Given the description of an element on the screen output the (x, y) to click on. 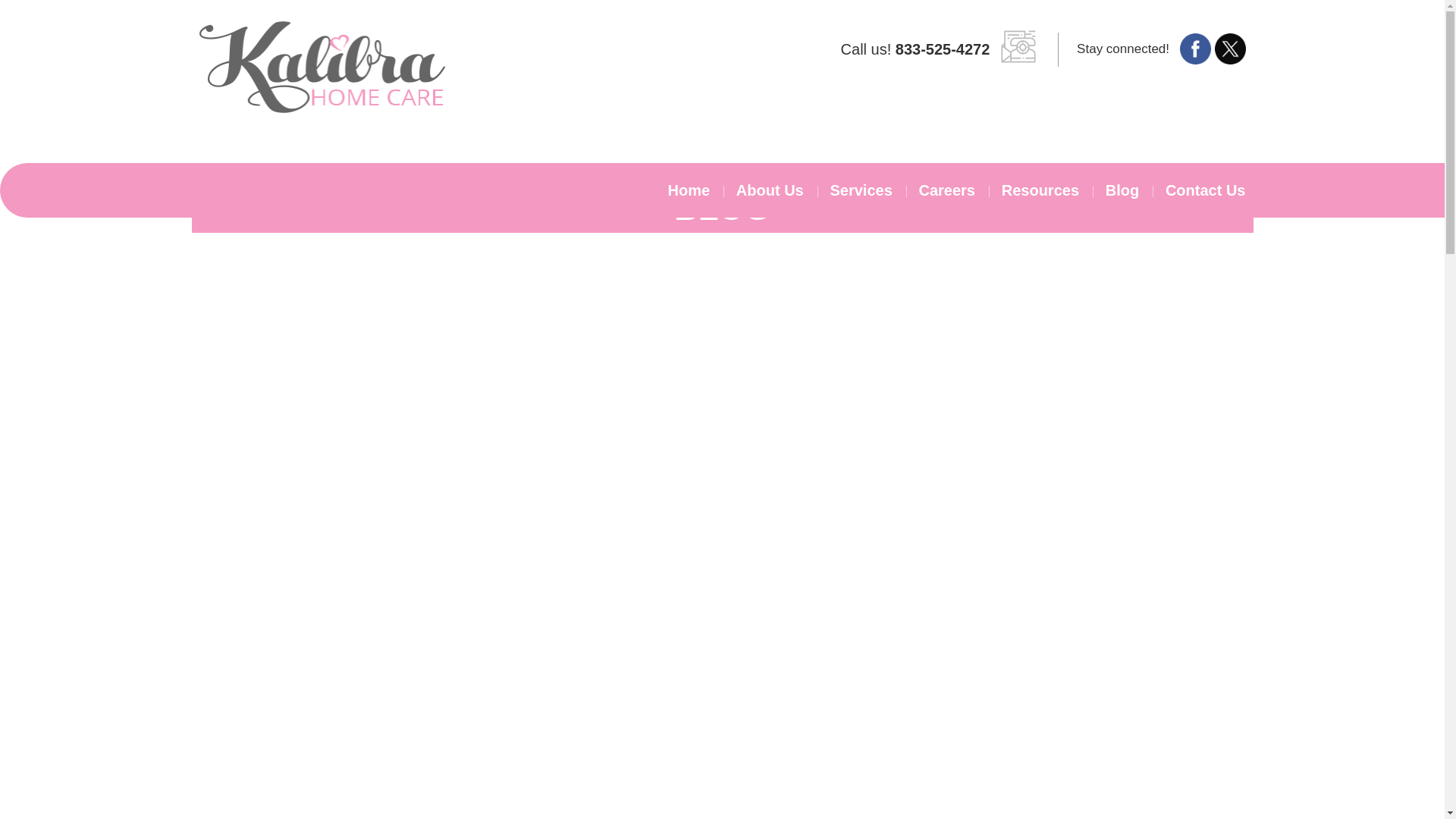
About Us (770, 189)
Careers (947, 189)
Blog (1122, 189)
Home (695, 189)
Services (860, 189)
Contact Us (1200, 189)
Resources (1040, 189)
